Given the description of an element on the screen output the (x, y) to click on. 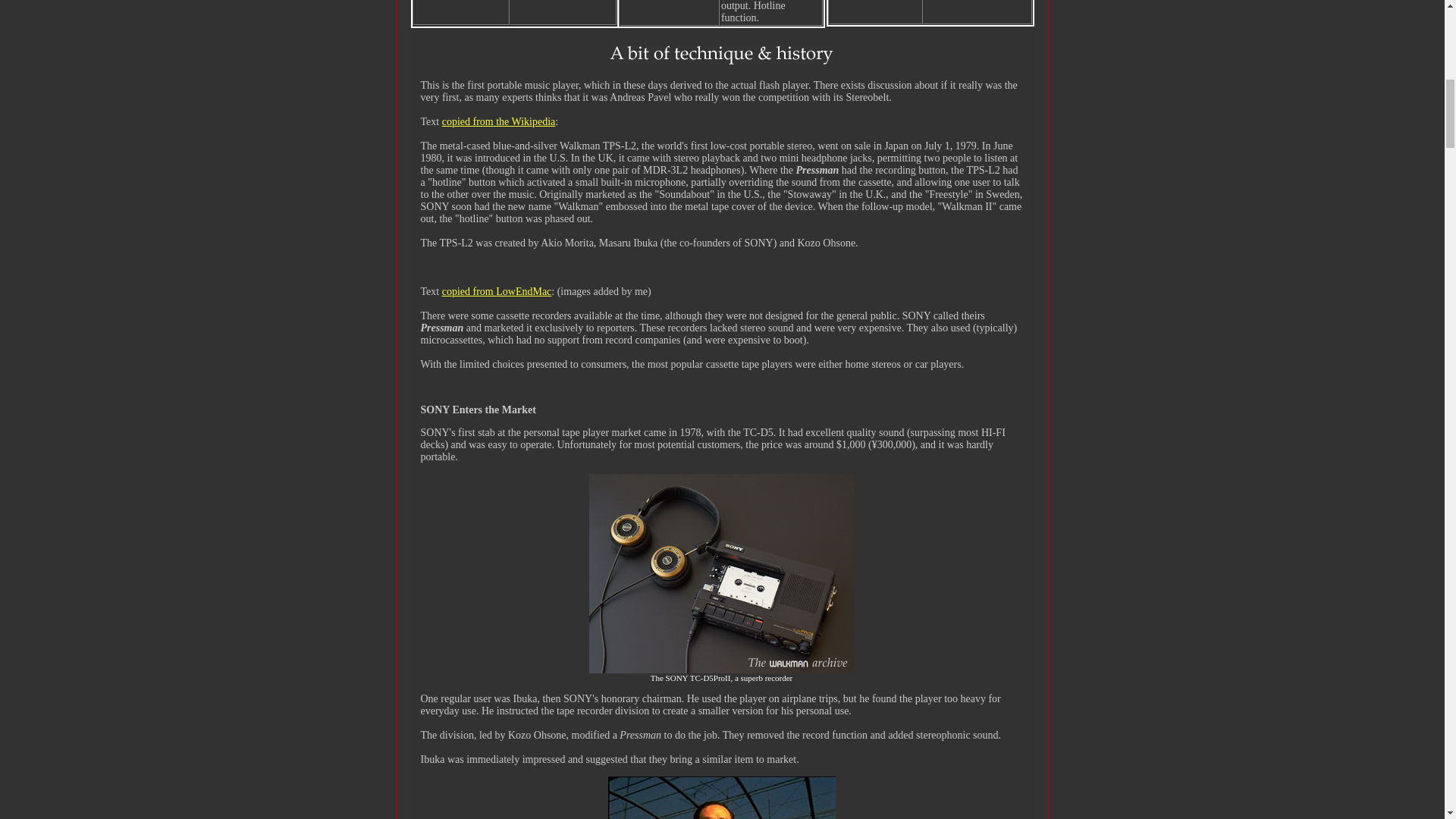
LowEndMac (523, 291)
The SONY D6C, a superb recorder (720, 669)
copied from the Wikipedia (499, 121)
copied from (469, 291)
